Given the description of an element on the screen output the (x, y) to click on. 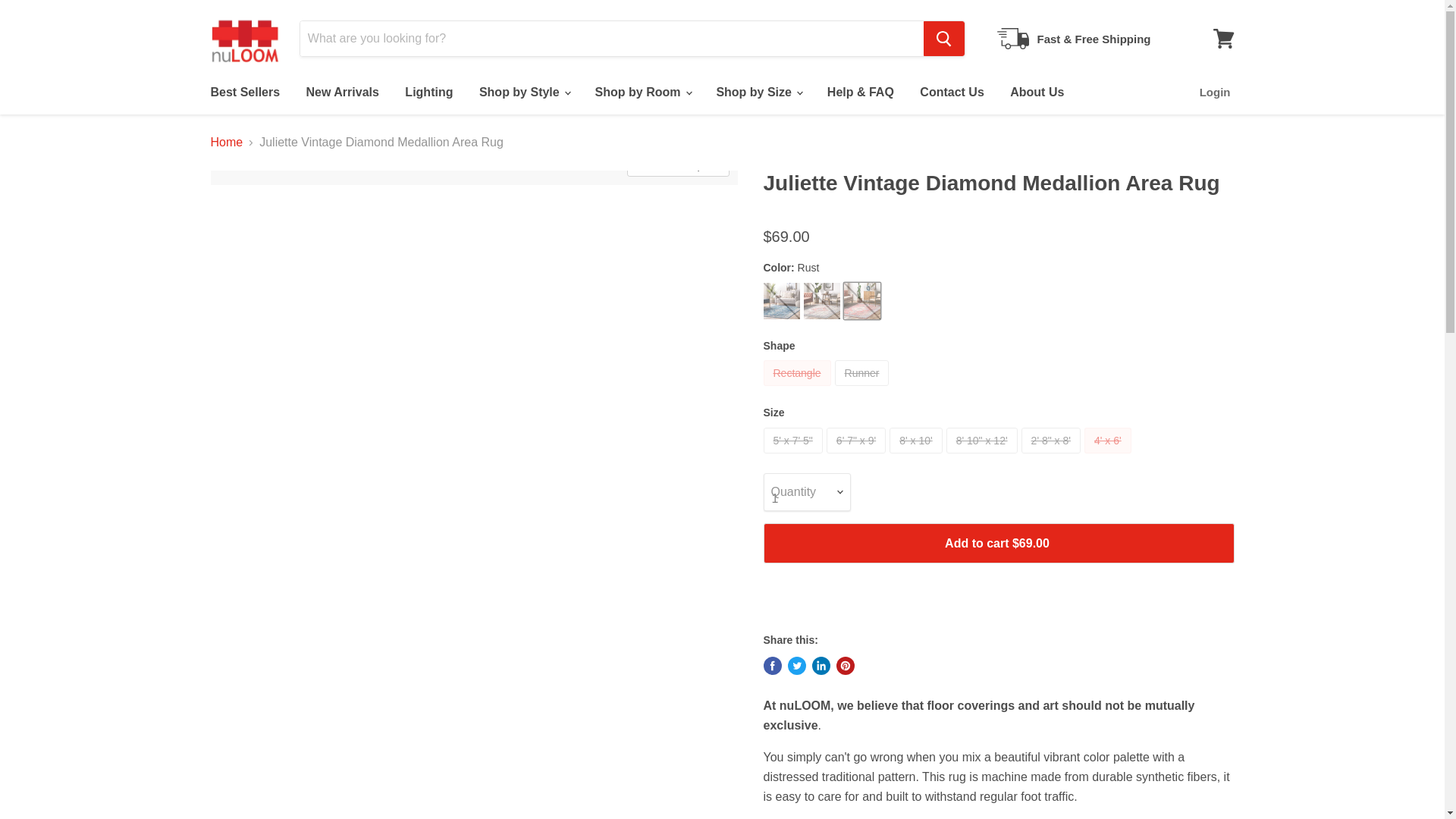
Shop by Size (758, 92)
Lighting (428, 92)
View cart (1223, 38)
Login (1215, 92)
Shop by Style (523, 92)
Contact Us (951, 92)
Shop by Room (642, 92)
New Arrivals (342, 92)
About Us (1036, 92)
Best Sellers (244, 92)
